Given the description of an element on the screen output the (x, y) to click on. 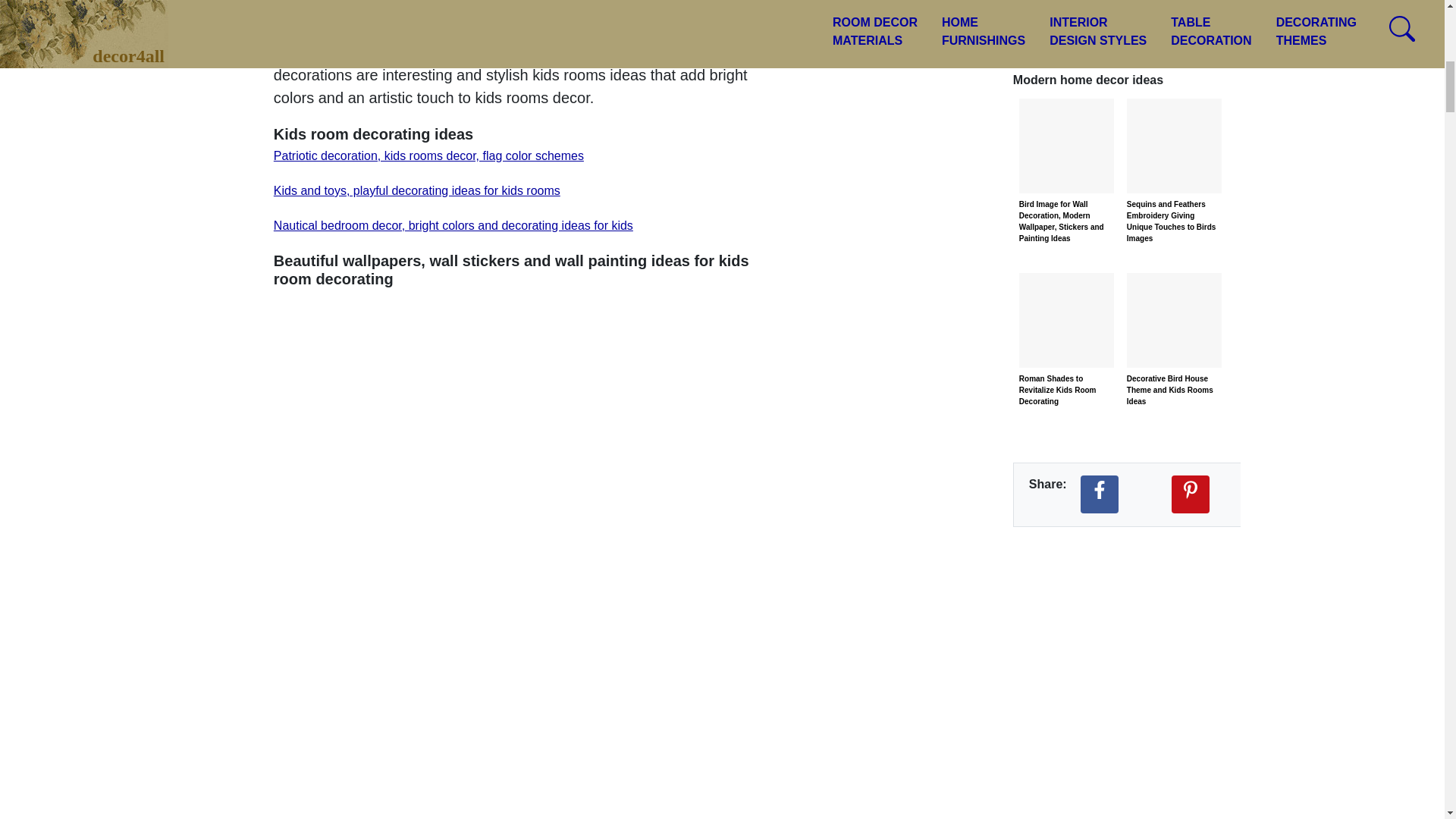
Kids and toys, playful decorating ideas for kids rooms (416, 190)
Patriotic decoration, kids rooms decor, flag color schemes (428, 155)
